Given the description of an element on the screen output the (x, y) to click on. 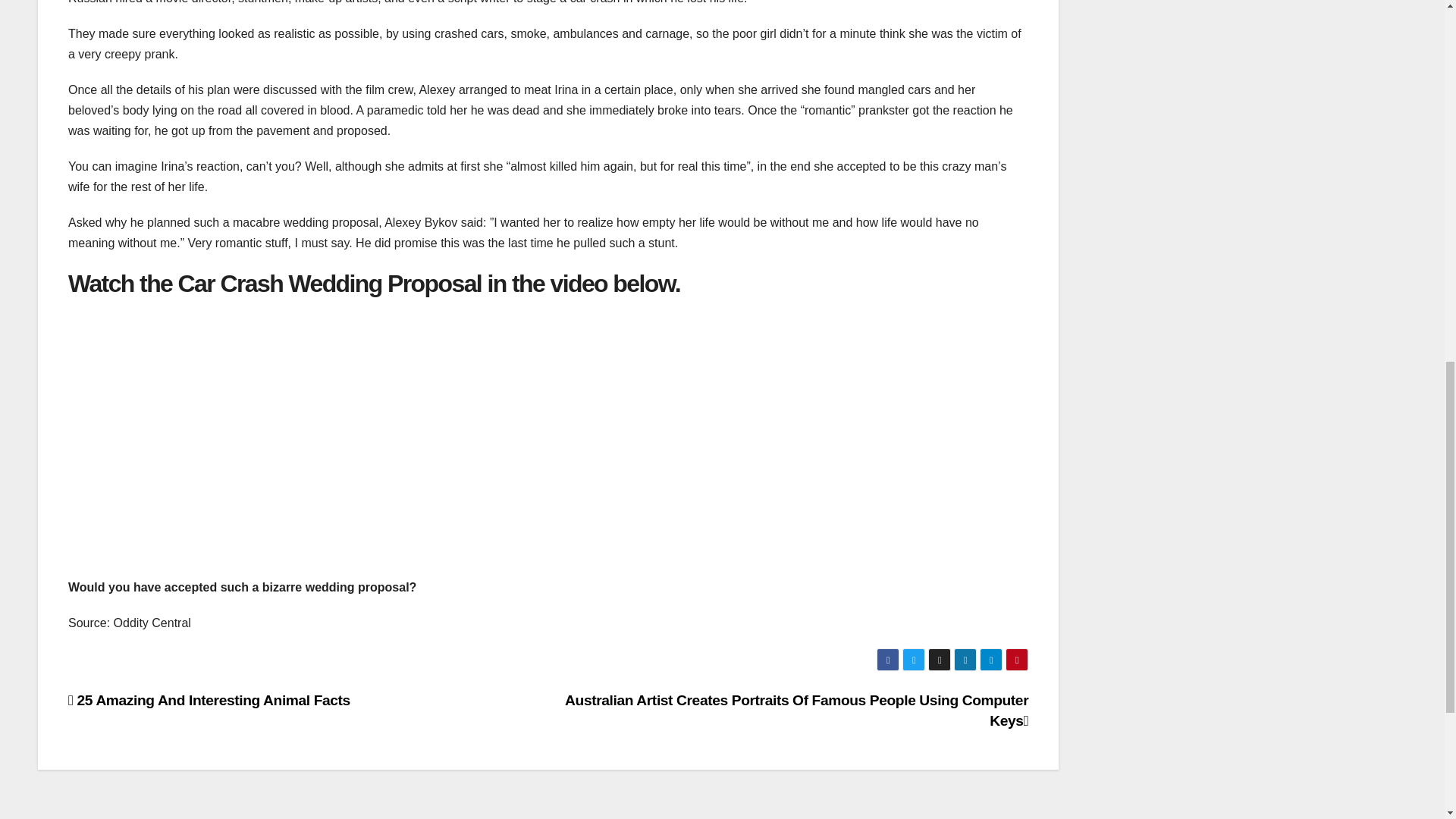
25 Amazing And Interesting Animal Facts (209, 700)
